Given the description of an element on the screen output the (x, y) to click on. 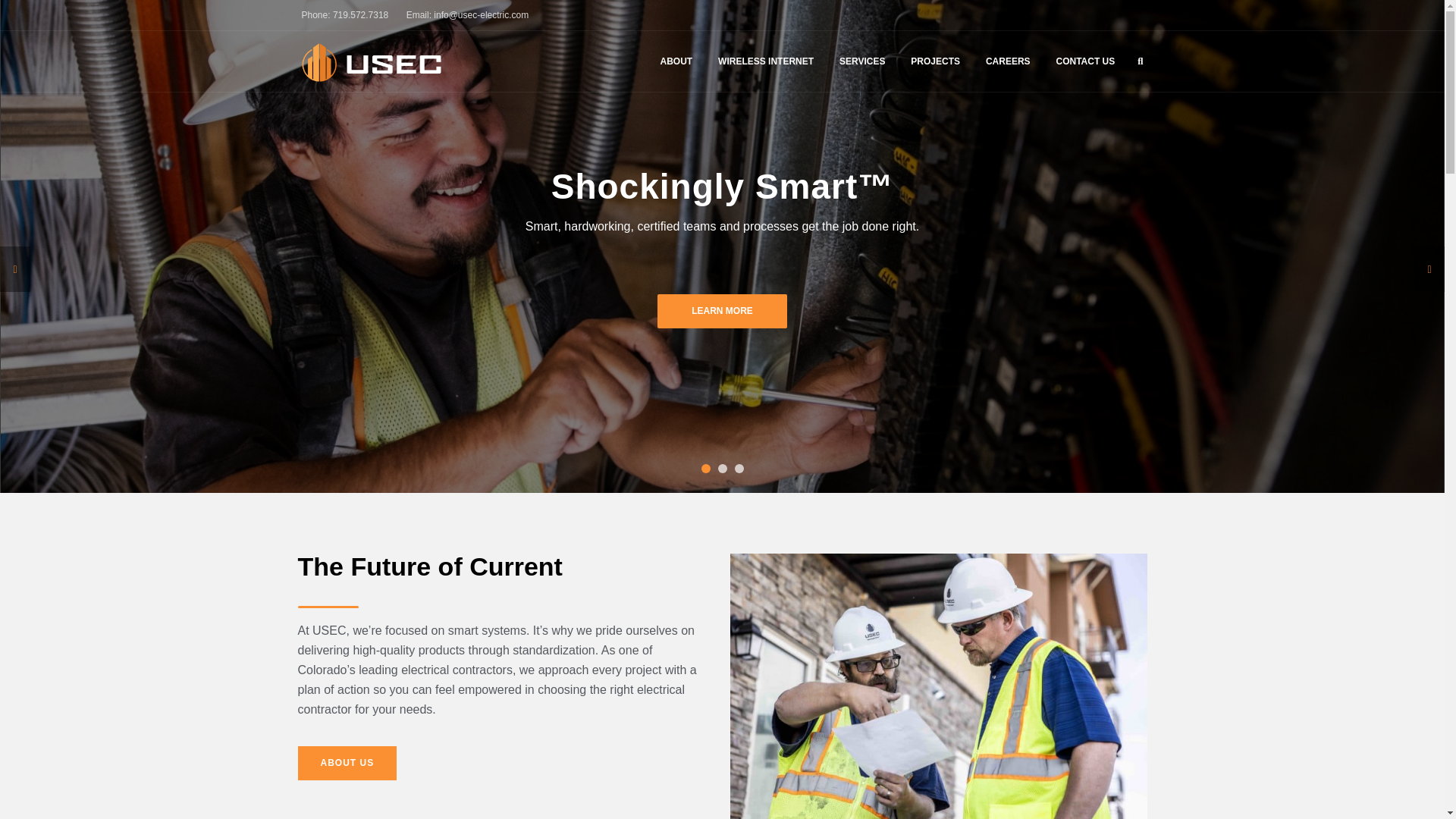
WIRELESS INTERNET (765, 61)
CONTACT US (1085, 61)
719.572.7318 (360, 14)
